Given the description of an element on the screen output the (x, y) to click on. 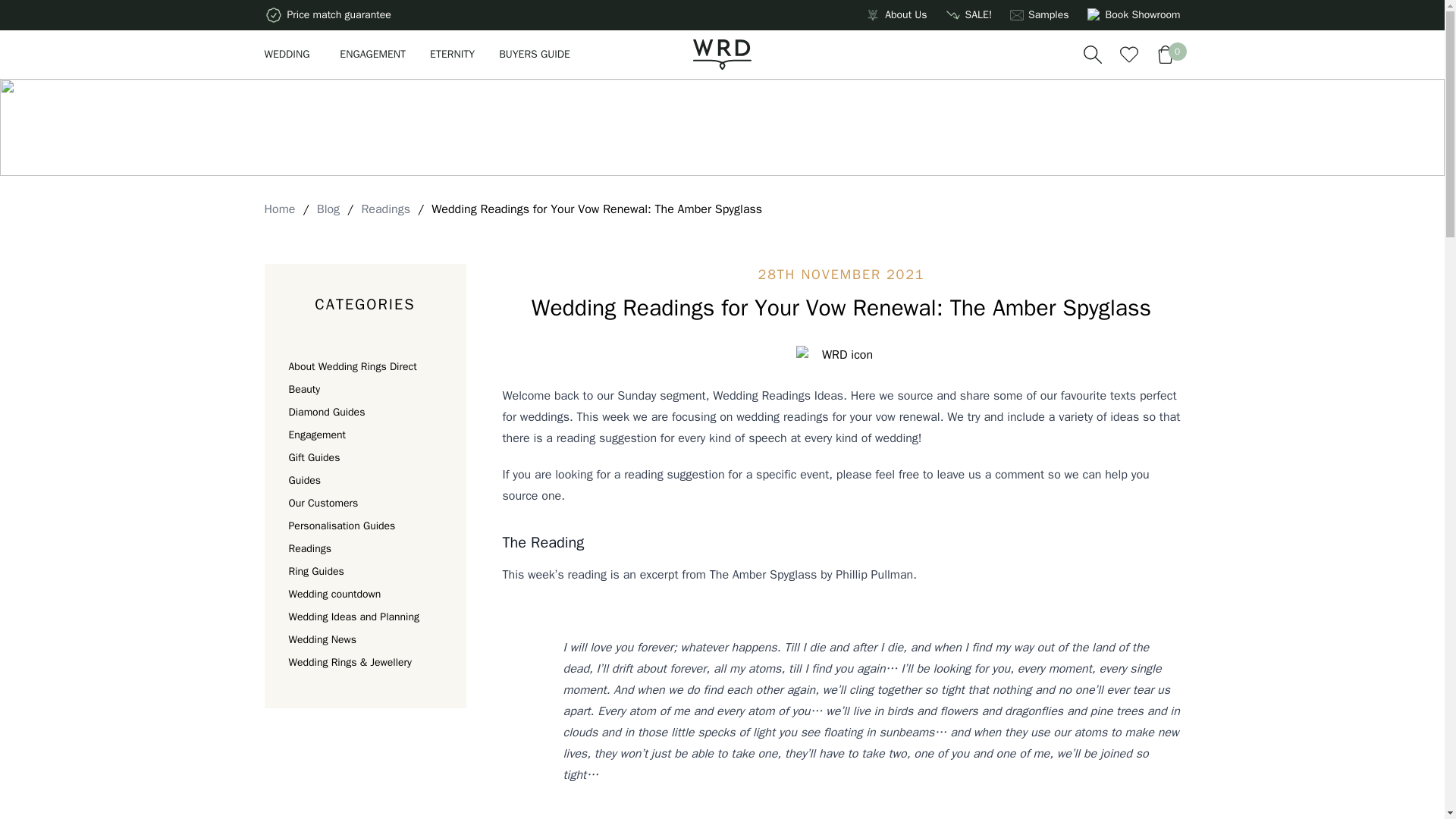
Book Showroom (1133, 14)
ENGAGEMENT (372, 54)
WEDDING (289, 54)
BUYERS GUIDE (534, 54)
0 (1165, 54)
Samples (1048, 14)
Price match guarantee (326, 14)
SALE! (977, 14)
ETERNITY (451, 54)
About Us (904, 14)
